Given the description of an element on the screen output the (x, y) to click on. 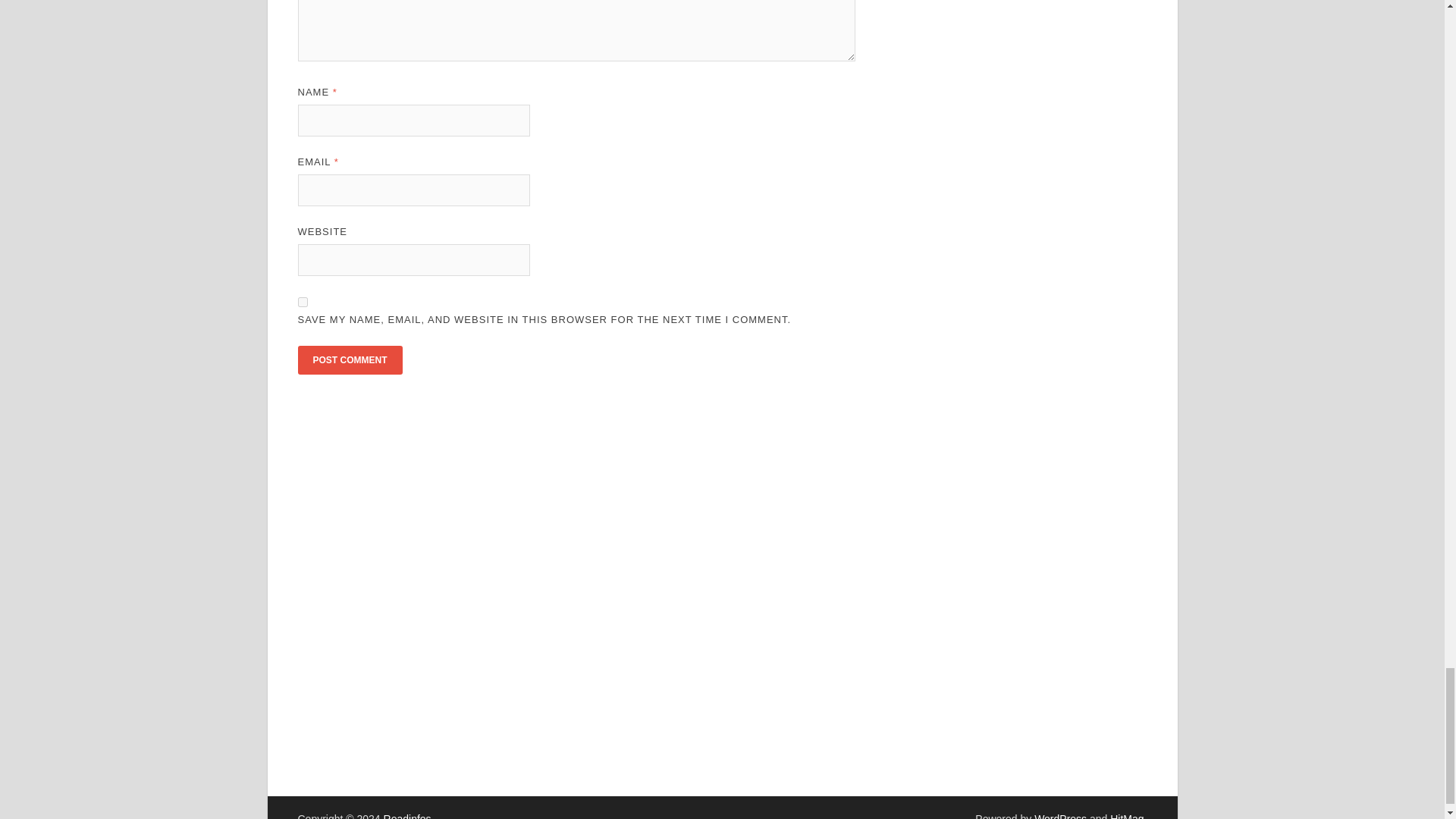
yes (302, 302)
Post Comment (349, 359)
